Given the description of an element on the screen output the (x, y) to click on. 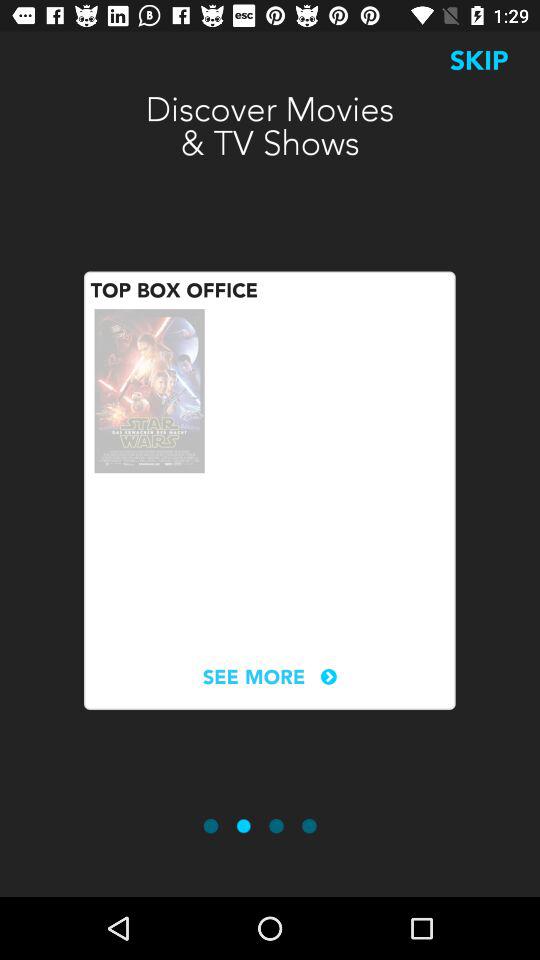
open the icon next to discover movies tv icon (479, 60)
